Given the description of an element on the screen output the (x, y) to click on. 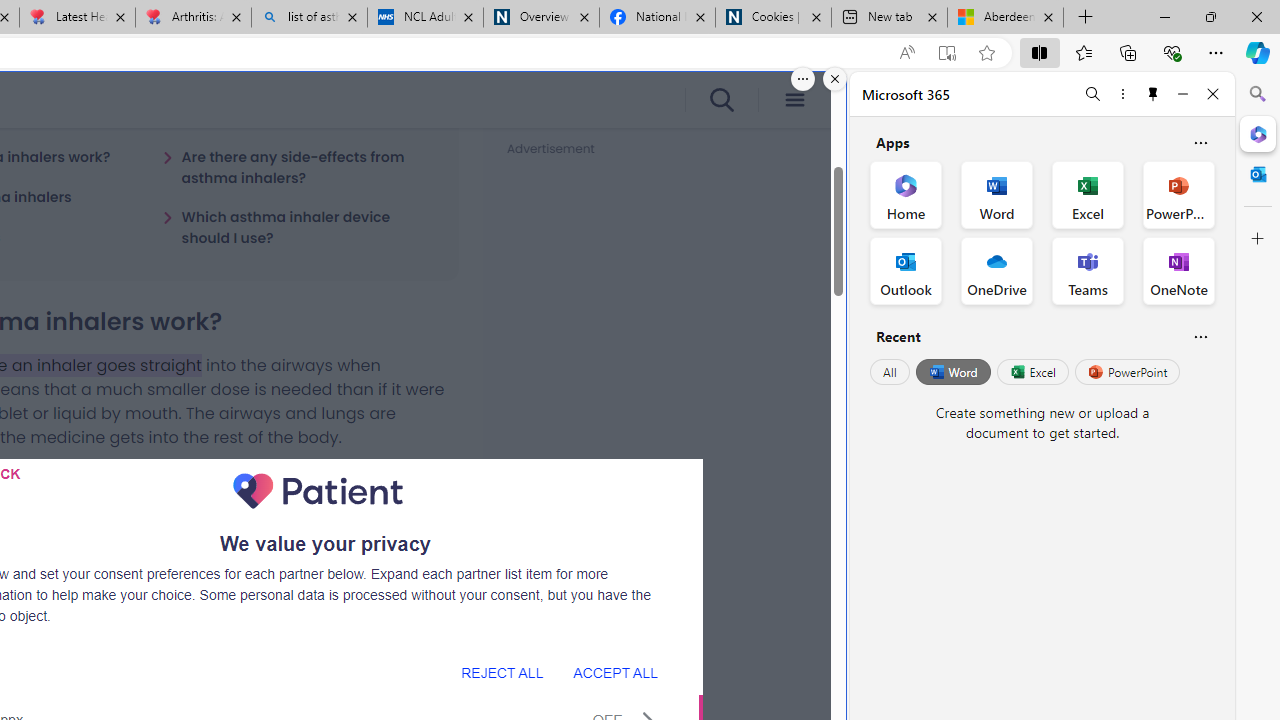
Excel (1031, 372)
Enter Immersive Reader (F9) (946, 53)
Close tab (1048, 16)
Read aloud this page (Ctrl+Shift+U) (906, 53)
Collections (1128, 52)
OneDrive Office App (996, 270)
New tab (889, 17)
